Given the description of an element on the screen output the (x, y) to click on. 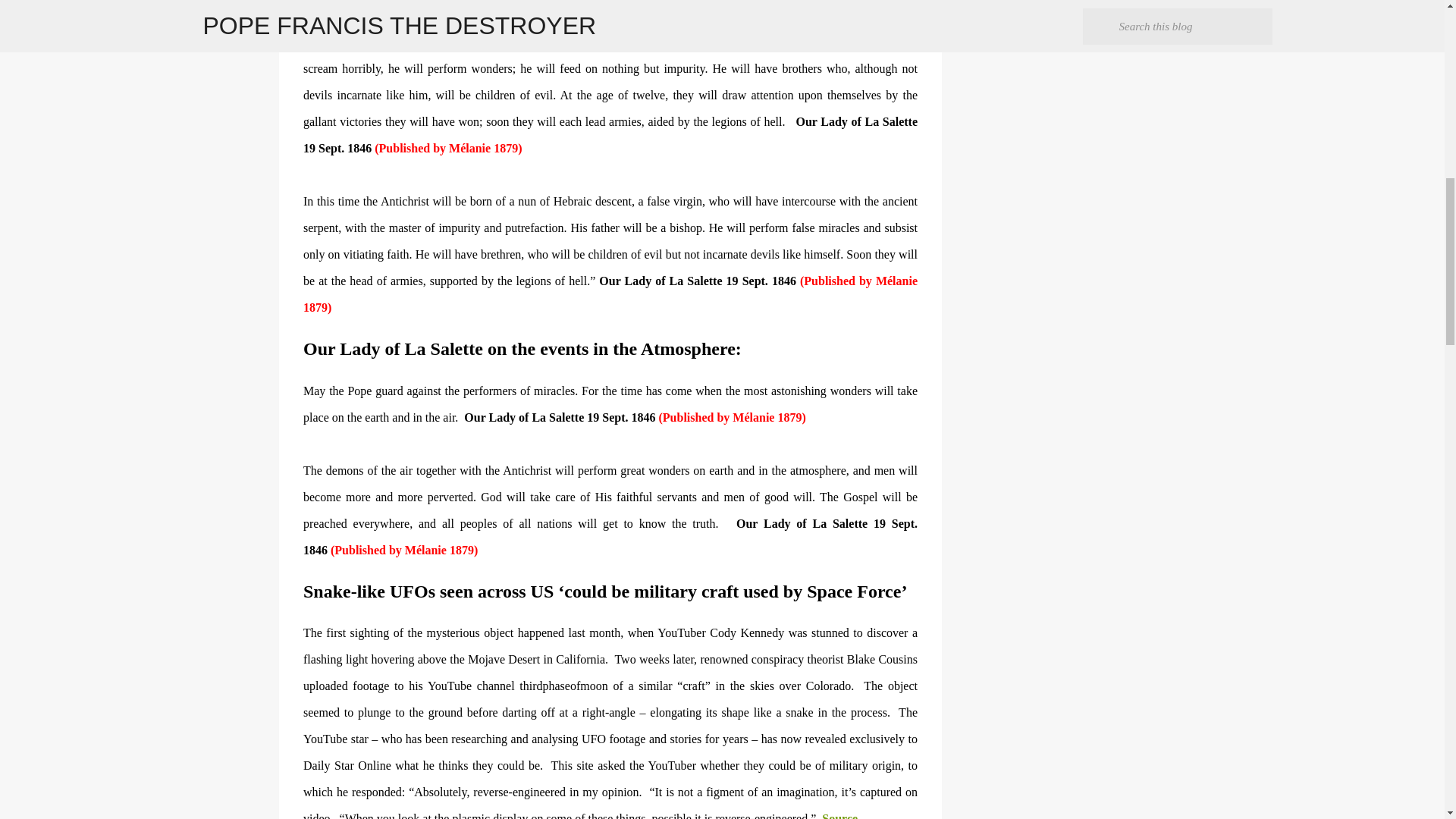
Source (839, 815)
